Given the description of an element on the screen output the (x, y) to click on. 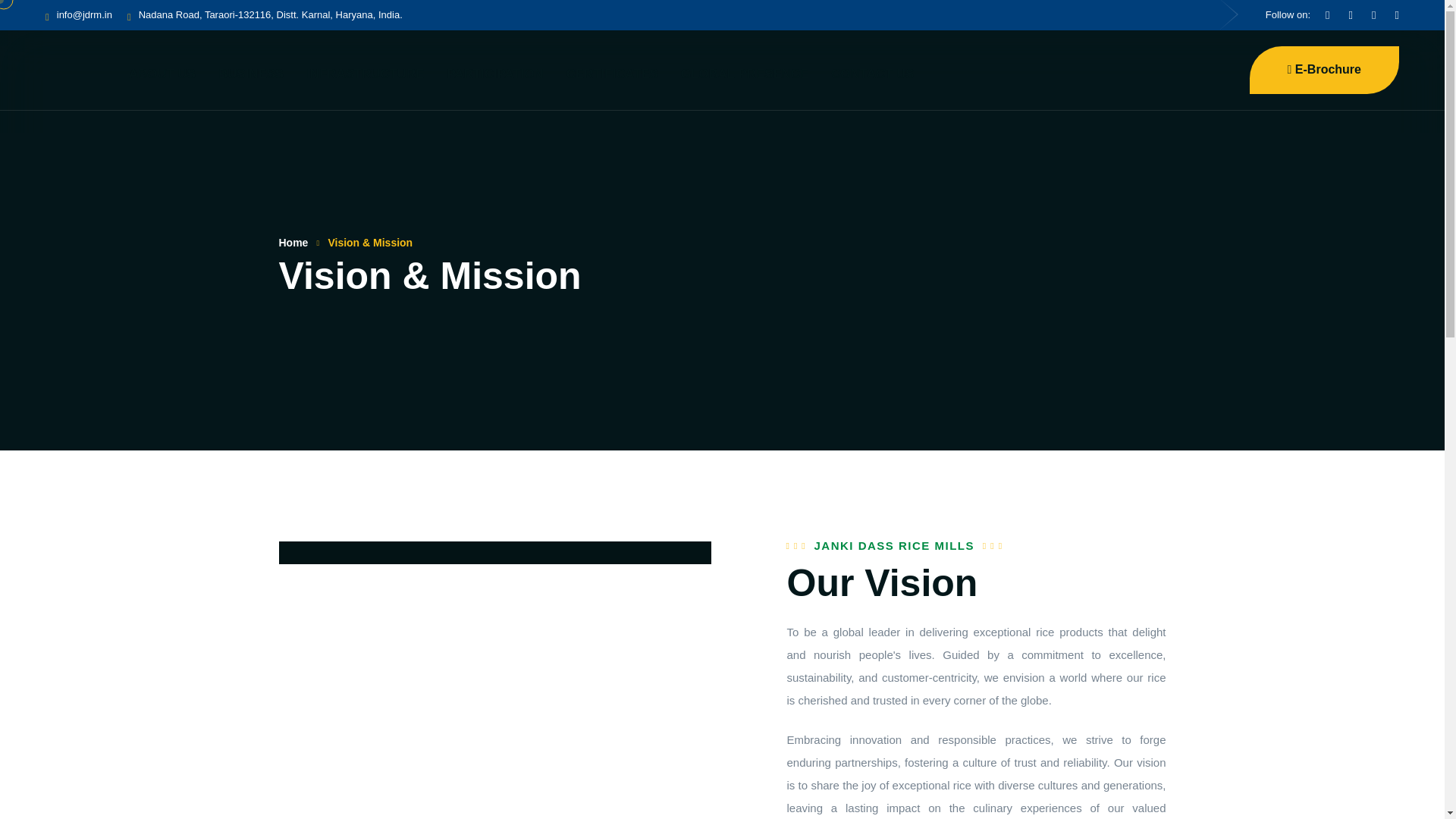
PARTICIPATION (494, 74)
ABOUT US (162, 74)
E-Brochure (1324, 69)
Home (293, 241)
INFRASTRUCTURE (364, 74)
BUSINESS (250, 74)
CONTACT US (872, 74)
CERTIFICATES (612, 74)
GLOBAL PRESENCE (744, 74)
